Given the description of an element on the screen output the (x, y) to click on. 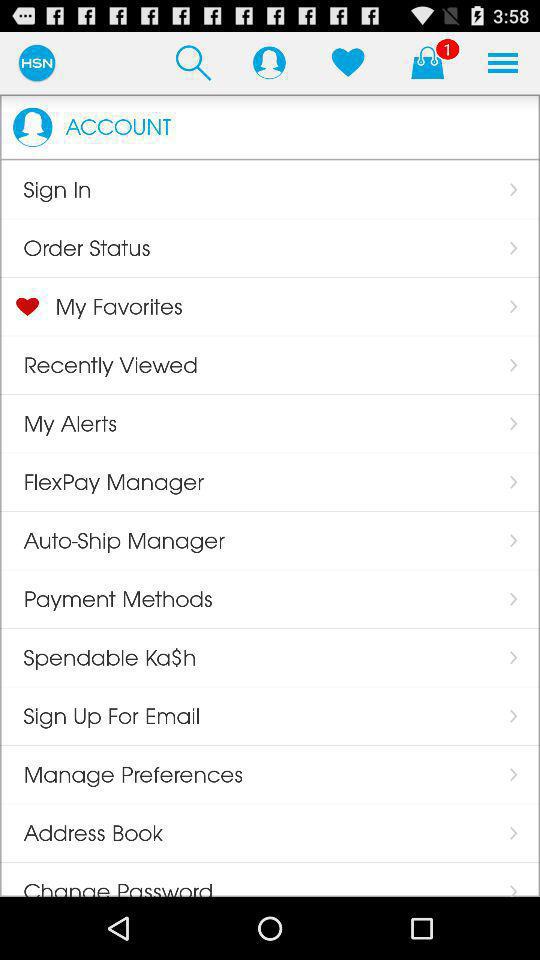
launch the recently viewed icon (99, 365)
